Given the description of an element on the screen output the (x, y) to click on. 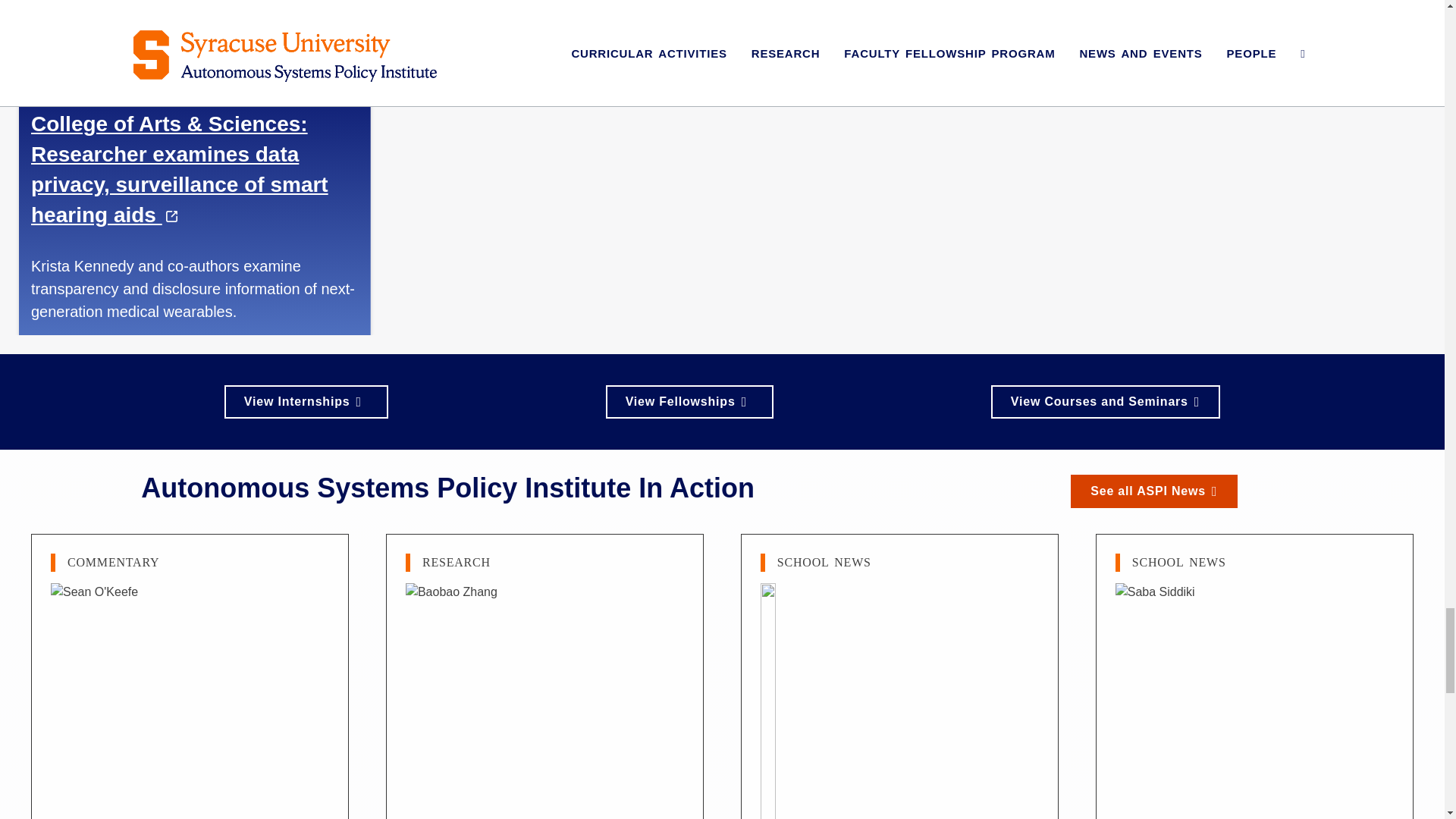
View Fellowships (689, 401)
View Courses and Seminars (1105, 401)
View Internships (306, 401)
See all ASPI News (1153, 491)
